Given the description of an element on the screen output the (x, y) to click on. 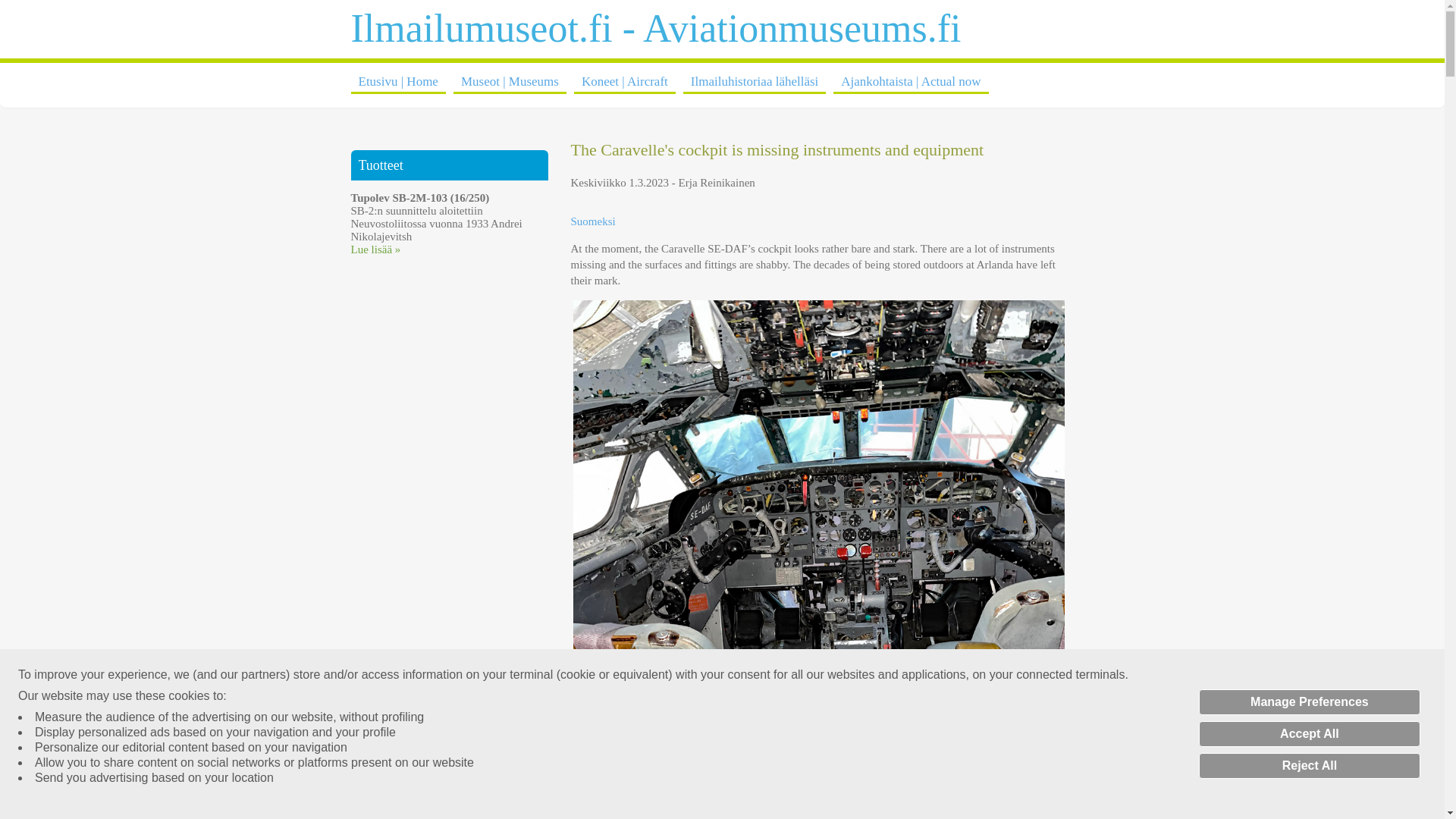
Accept All (1309, 733)
Reject All (1309, 765)
Manage Preferences (1309, 701)
